Given the description of an element on the screen output the (x, y) to click on. 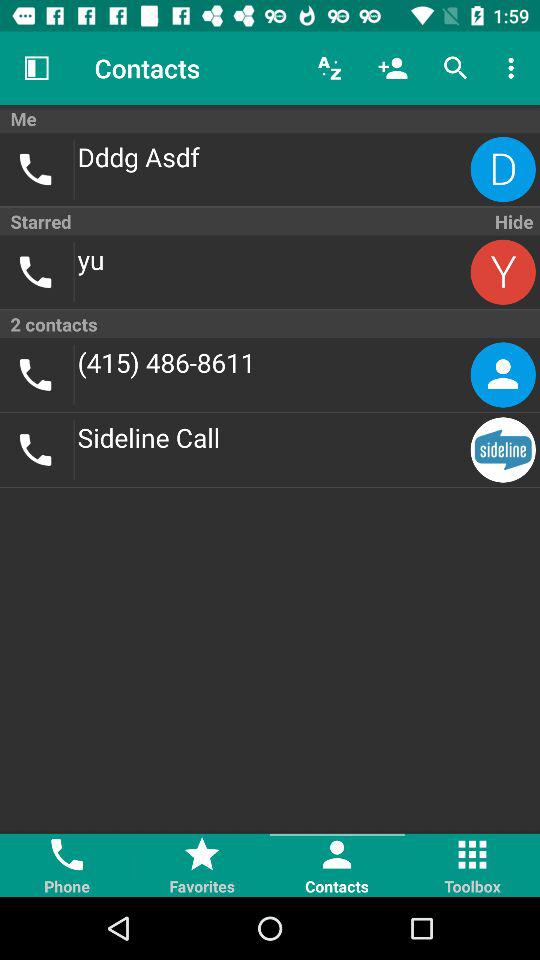
turn off icon next to the starred item (512, 221)
